Given the description of an element on the screen output the (x, y) to click on. 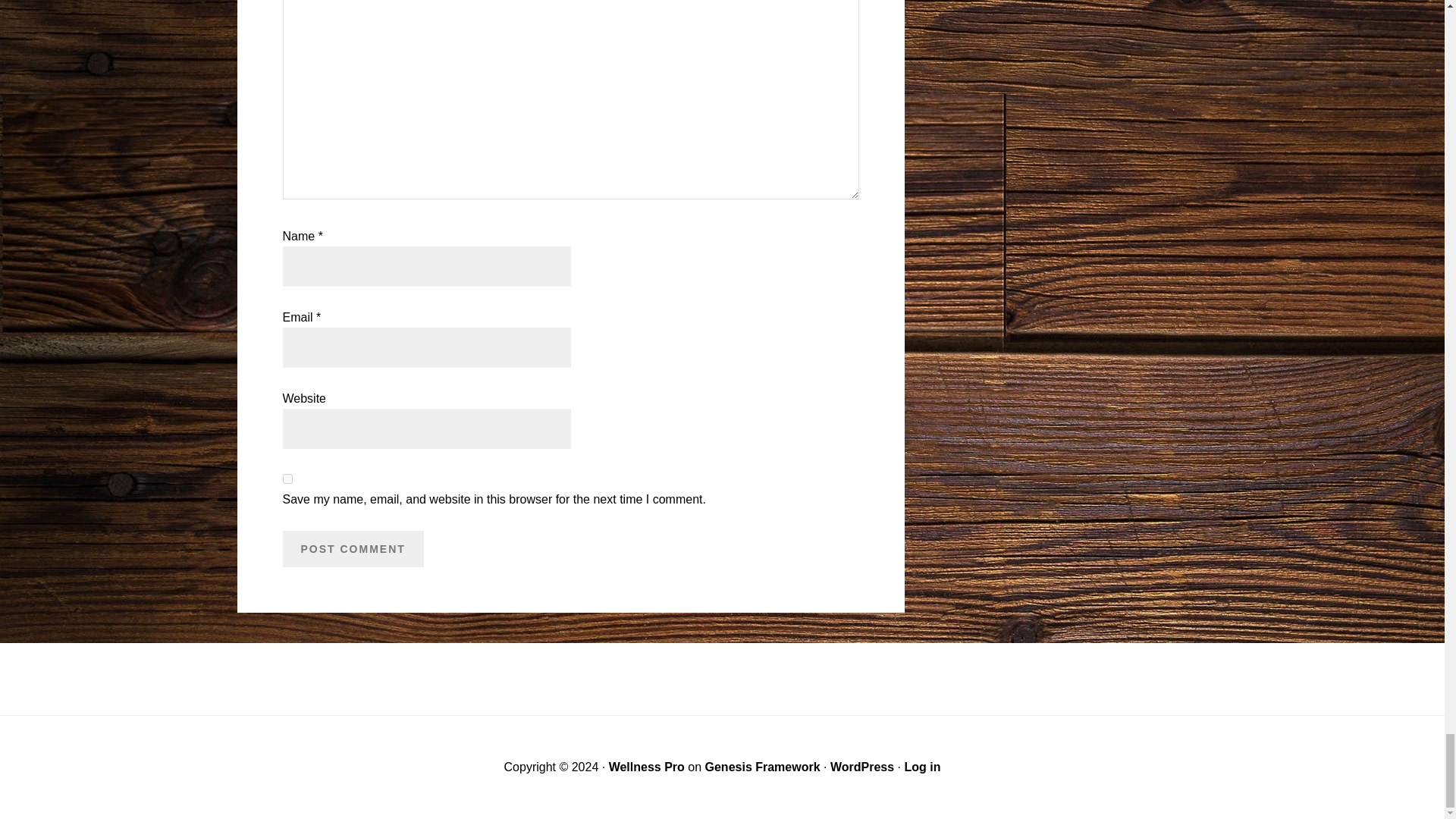
Post Comment (352, 548)
yes (287, 479)
